Given the description of an element on the screen output the (x, y) to click on. 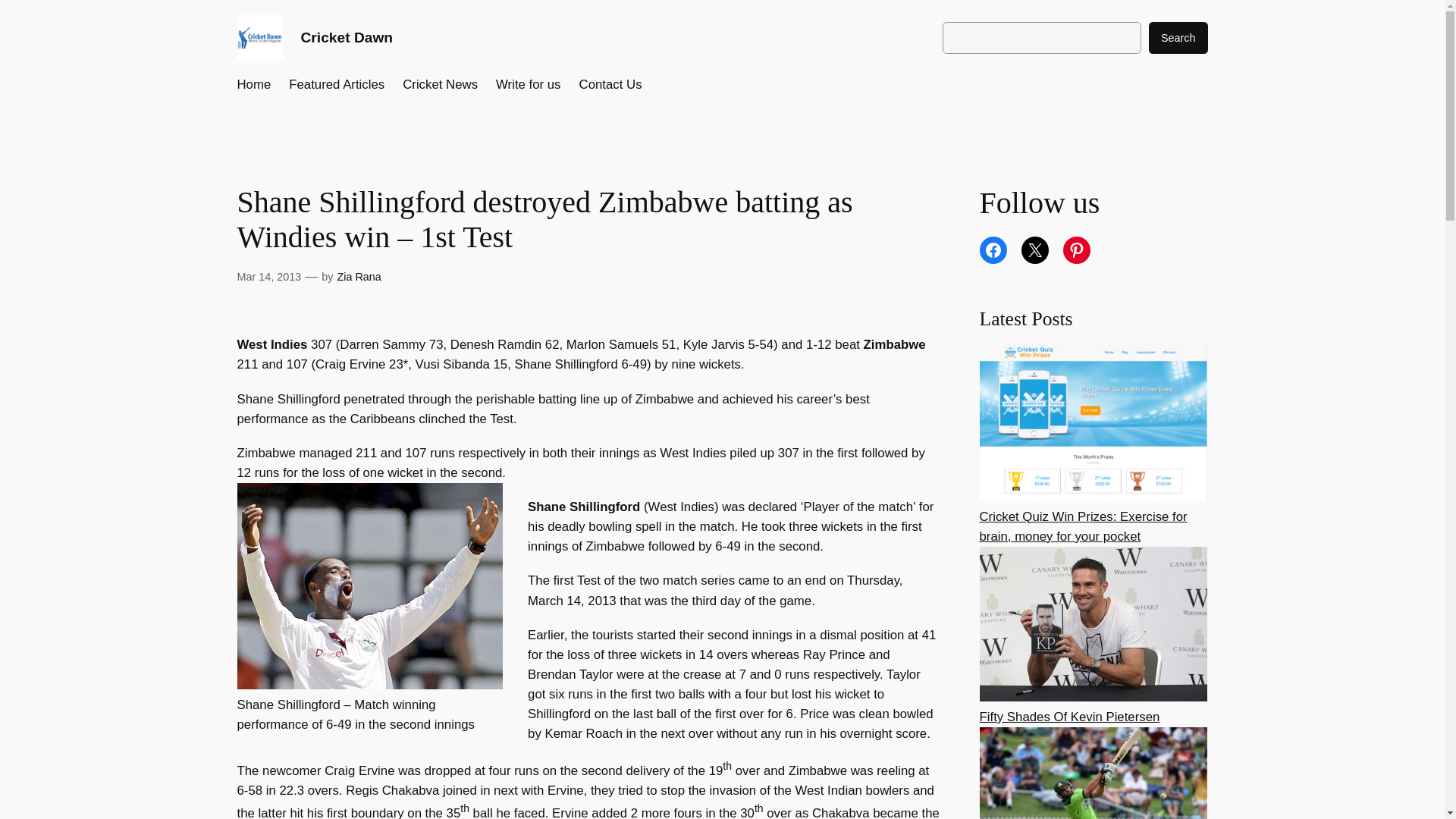
Mar 14, 2013 (268, 276)
Contact Us (610, 85)
Home (252, 85)
Zia Rana (358, 276)
Fifty Shades Of Kevin Pietersen (1069, 716)
Search (1178, 38)
Cricket News (440, 85)
Featured Articles (336, 85)
Pinterest (1076, 249)
